Given the description of an element on the screen output the (x, y) to click on. 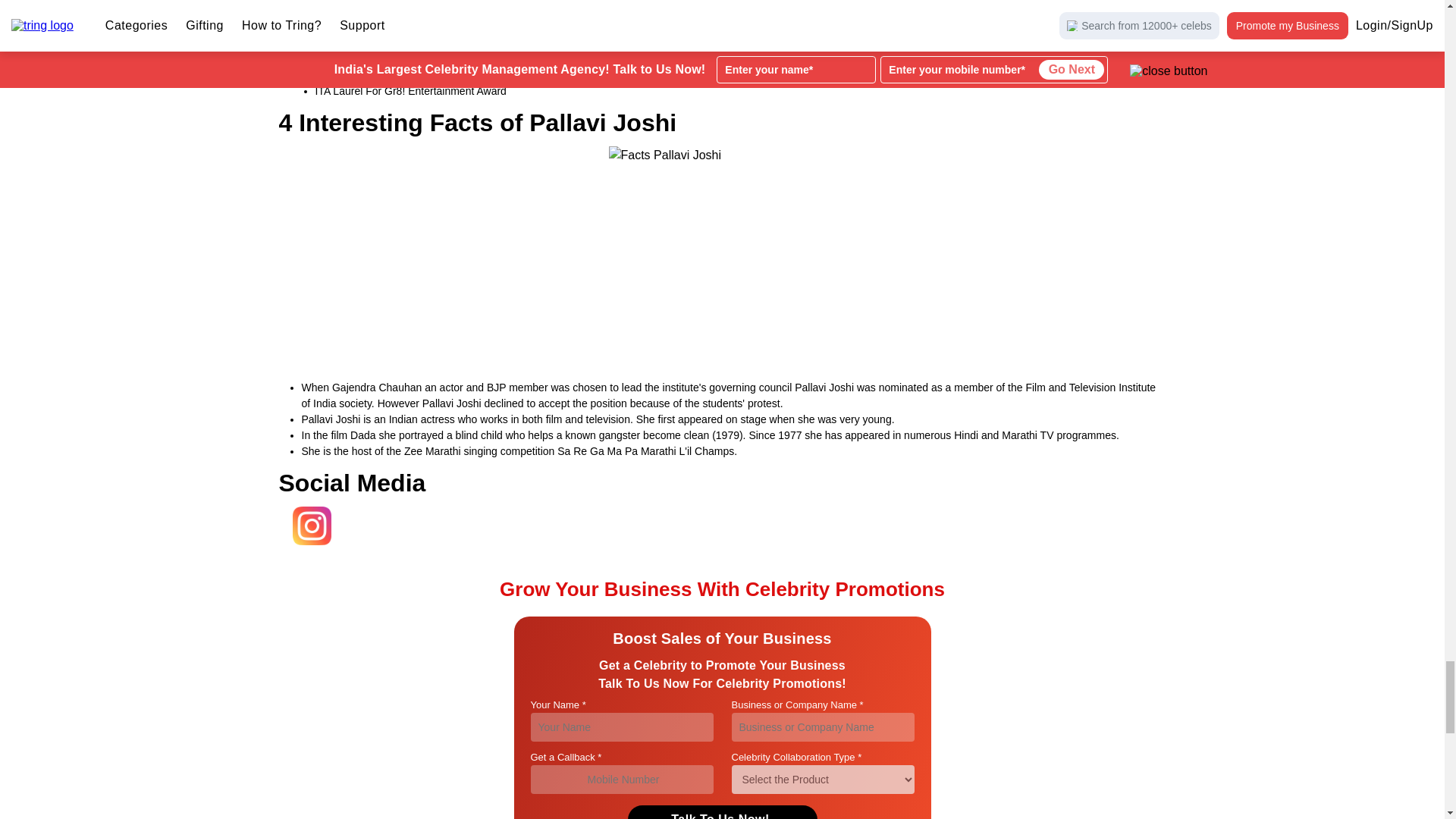
Instagram (306, 544)
